Given the description of an element on the screen output the (x, y) to click on. 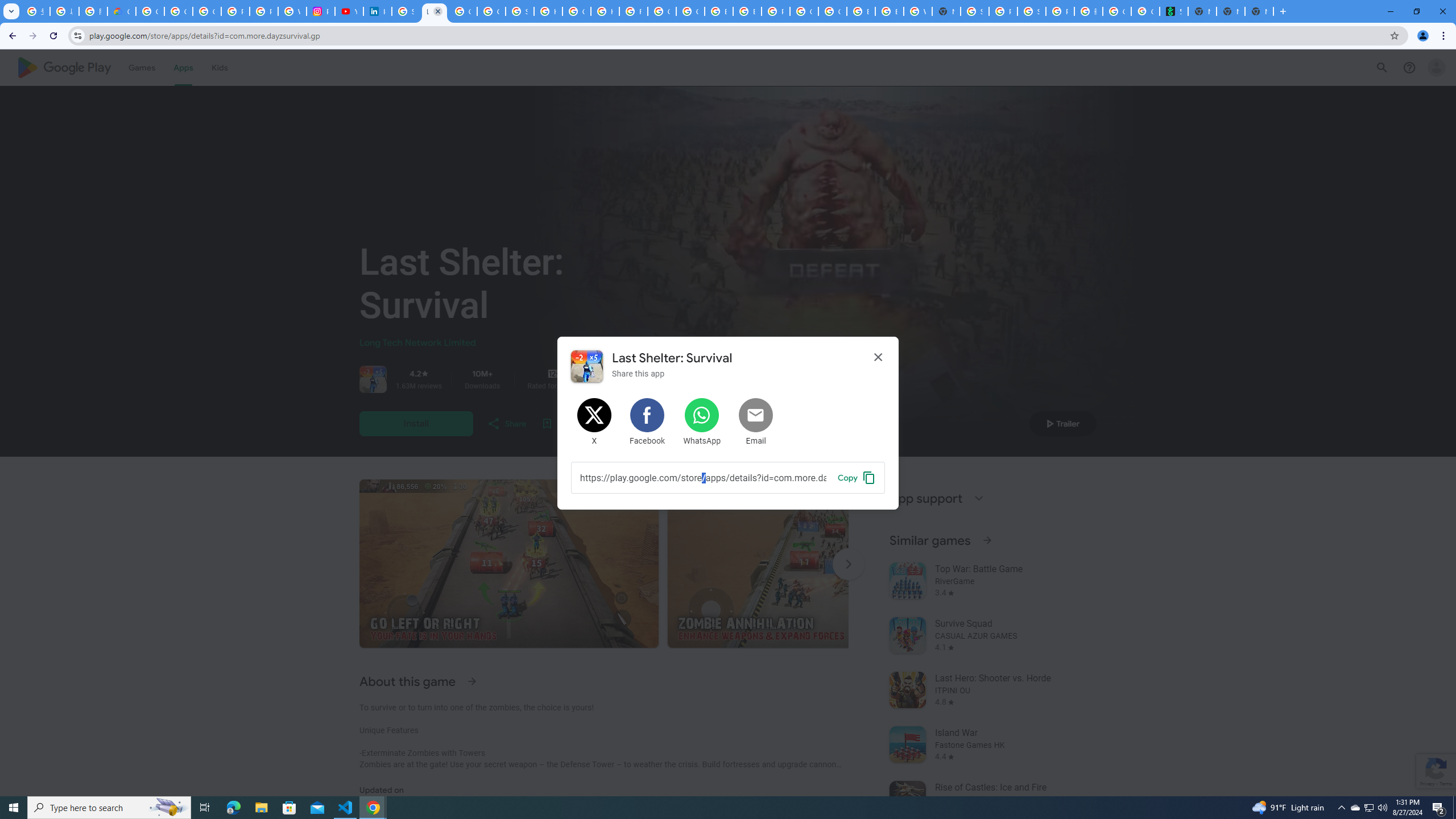
Share by Email (755, 421)
